Given the description of an element on the screen output the (x, y) to click on. 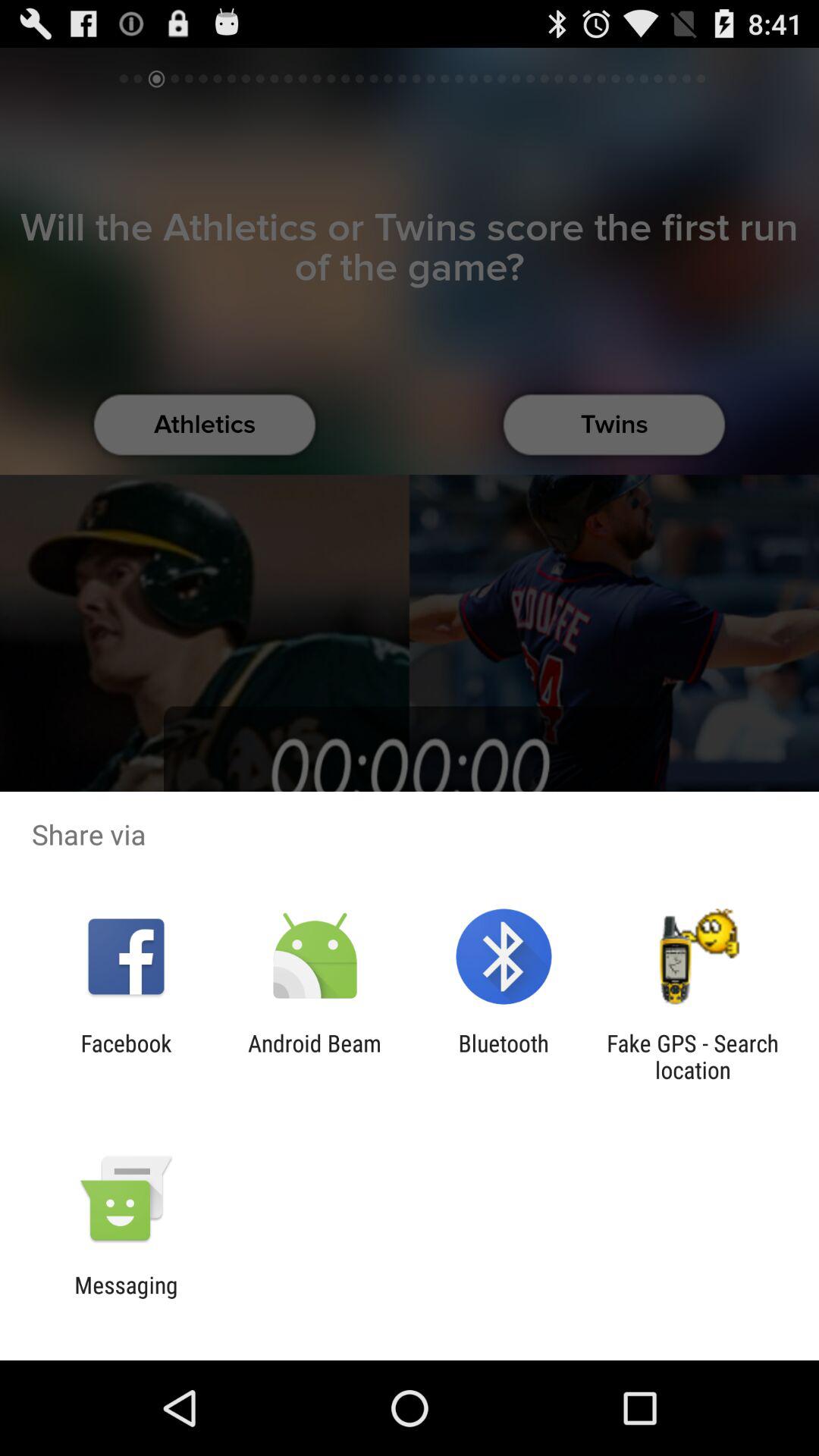
open the app to the right of facebook (314, 1056)
